Given the description of an element on the screen output the (x, y) to click on. 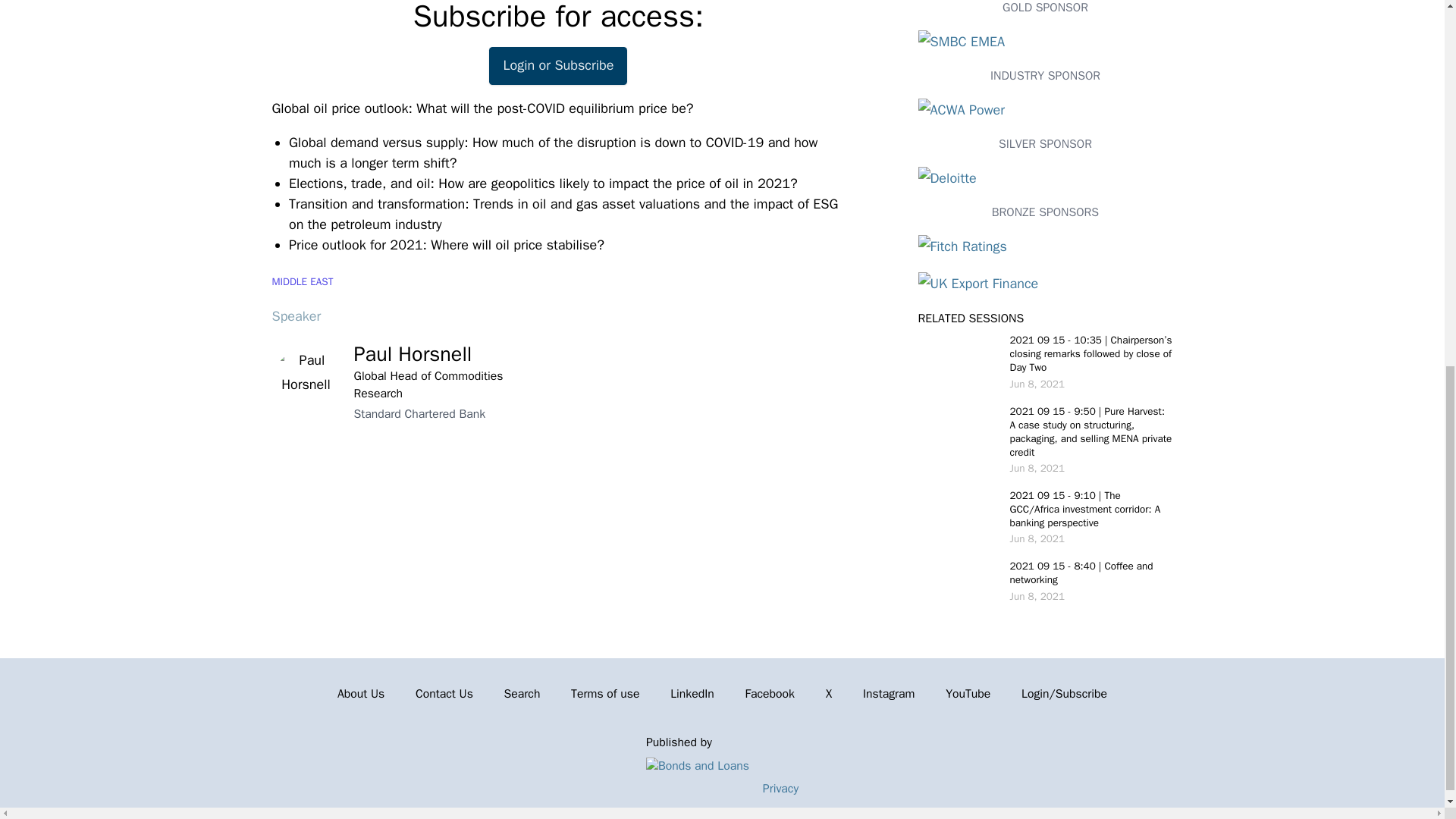
MIDDLE EAST (301, 281)
Search (521, 694)
Login or Subscribe (558, 65)
SMBC EMEA (1044, 42)
Contact Us (443, 694)
Fitch Ratings (1044, 247)
About Us (360, 694)
UK Export Finance (1044, 283)
Deloitte (1044, 178)
Paul Horsnell (412, 353)
